Given the description of an element on the screen output the (x, y) to click on. 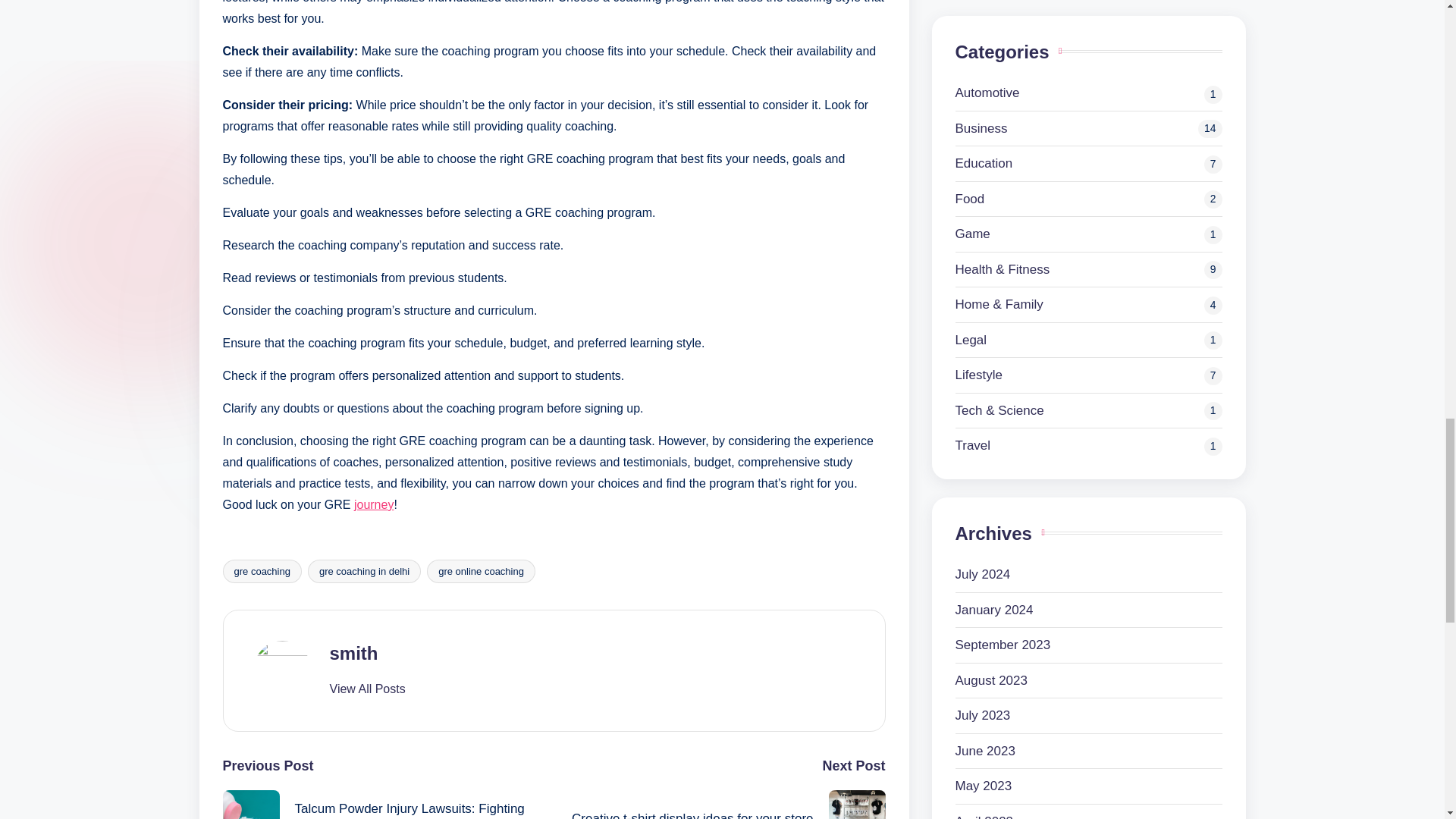
gre coaching (261, 571)
journey (373, 504)
Creative t-shirt display ideas for your store (719, 804)
smith (353, 652)
gre coaching in delhi (363, 571)
gre online coaching (480, 571)
View All Posts (366, 689)
